Given the description of an element on the screen output the (x, y) to click on. 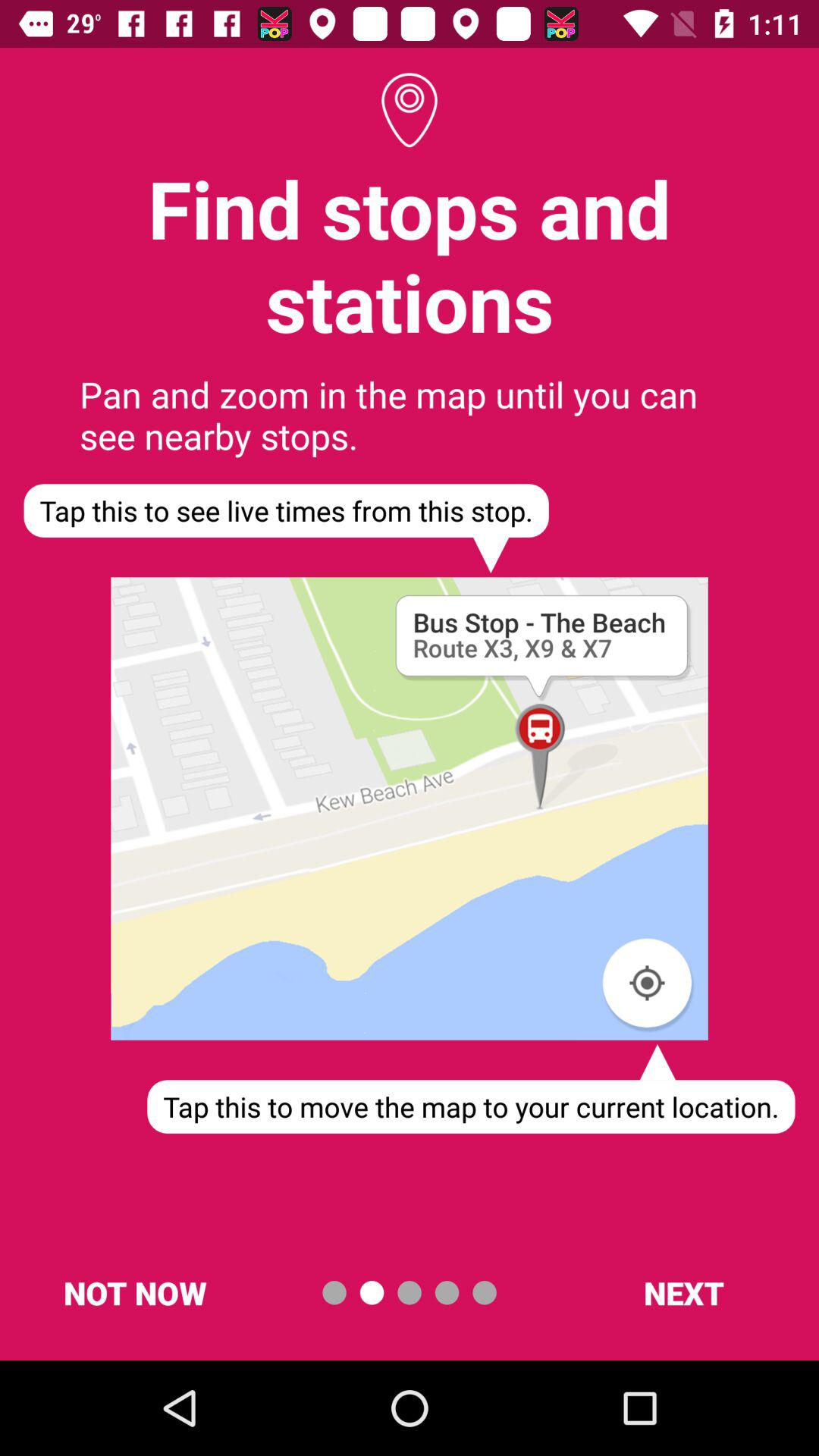
tap item below the tap this to item (134, 1292)
